Given the description of an element on the screen output the (x, y) to click on. 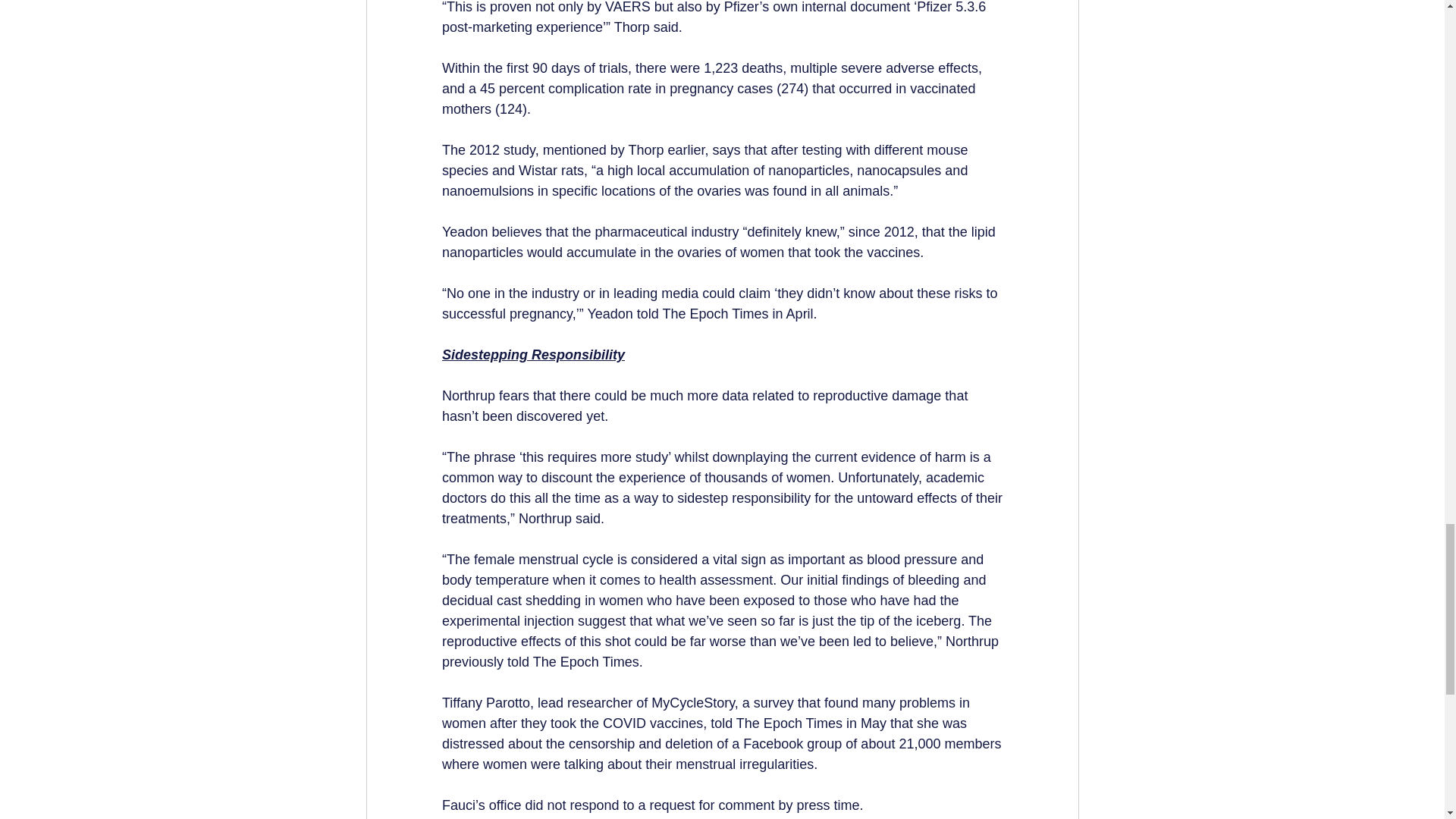
The Epoch Times (585, 661)
The 2012 study, (489, 150)
The Epoch Times (715, 313)
